Given the description of an element on the screen output the (x, y) to click on. 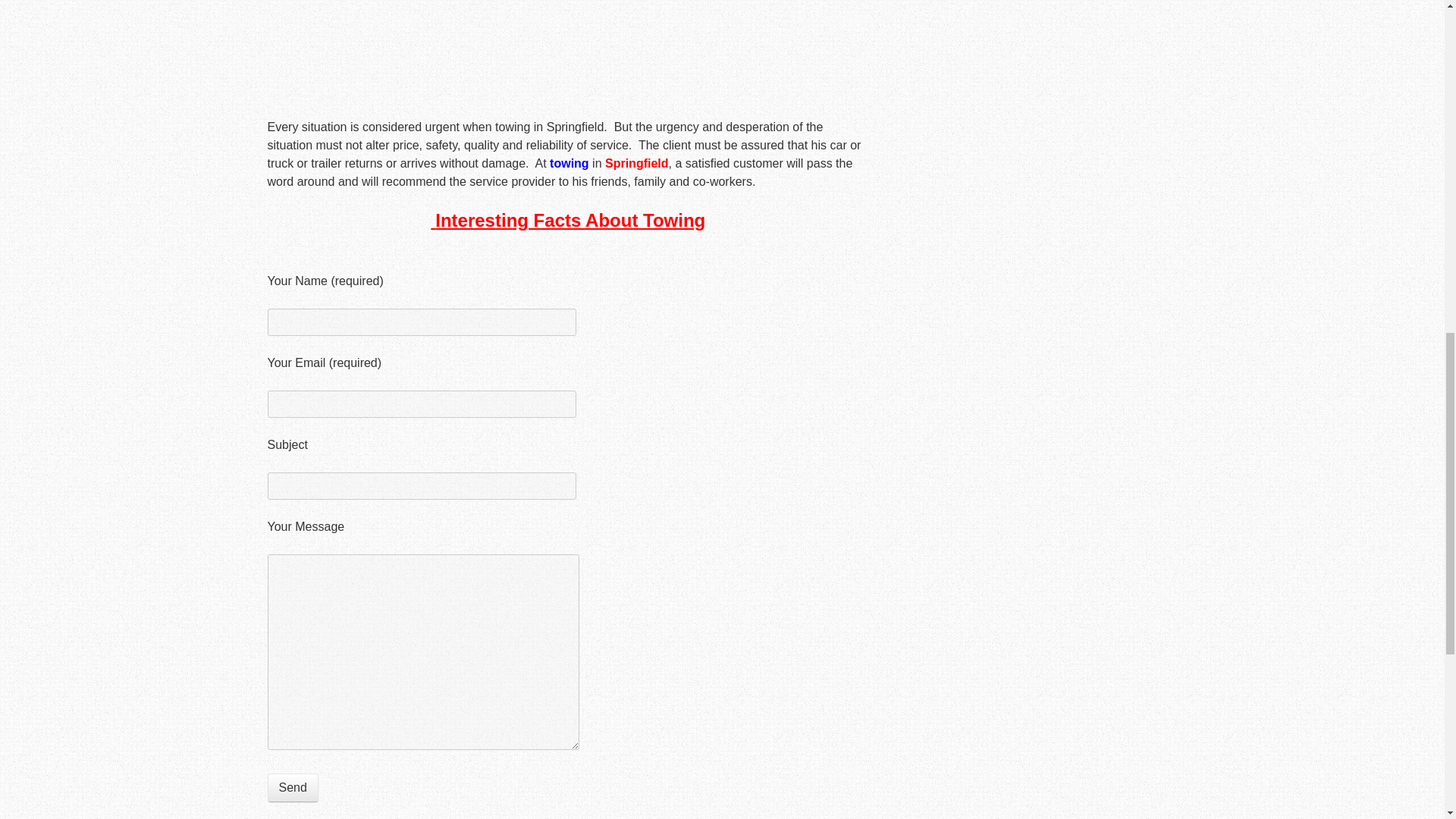
 Interesting Facts About Towing (567, 220)
Send (291, 787)
Send (291, 787)
Interesting Facts (567, 220)
